Given the description of an element on the screen output the (x, y) to click on. 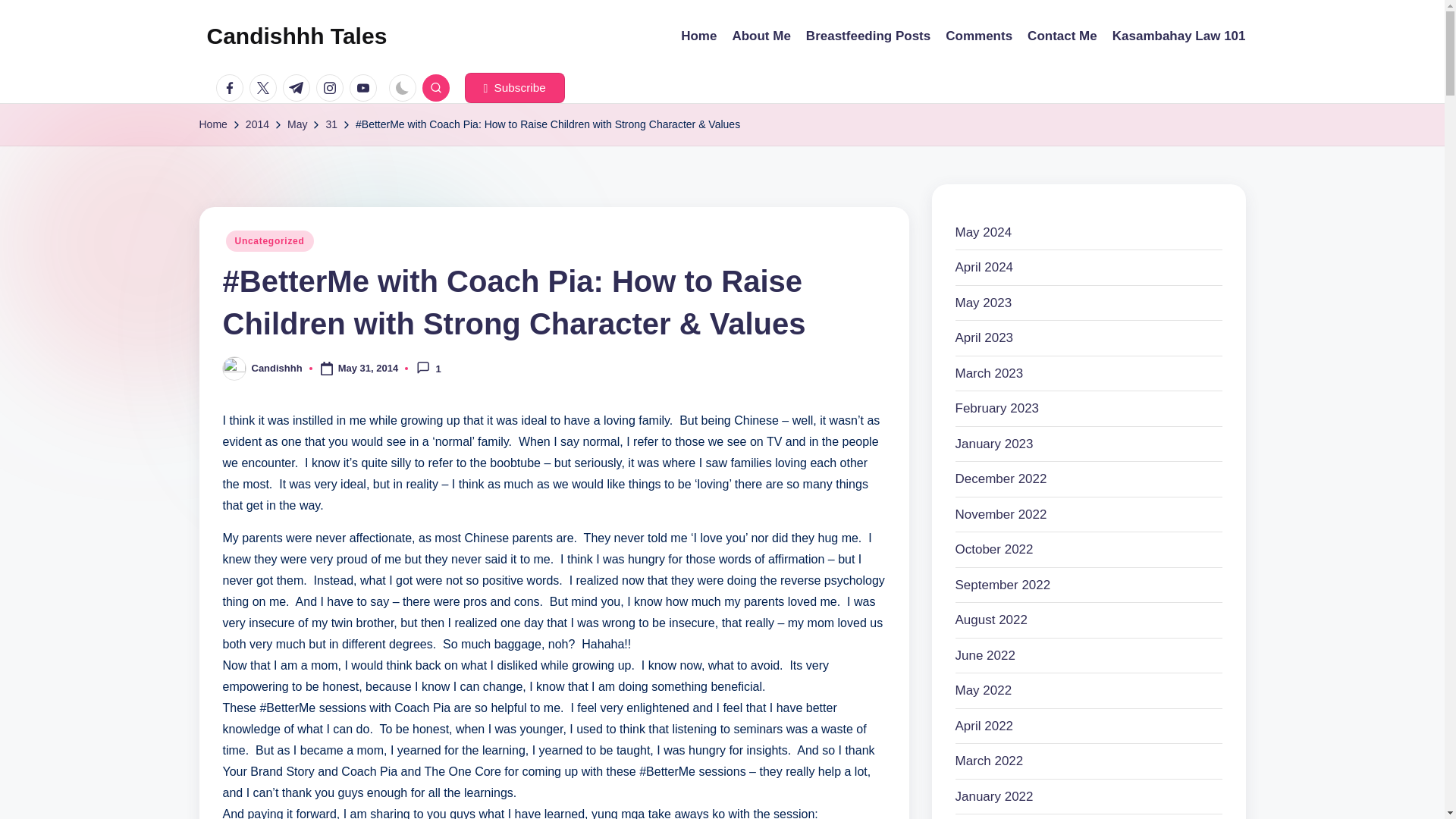
About Me (761, 36)
Comments (977, 36)
Candishhh Tales (296, 36)
twitter.com (265, 87)
t.me (298, 87)
youtube.com (365, 87)
Breastfeeding Posts (868, 36)
facebook.com (231, 87)
Uncategorized (269, 240)
Subscribe (514, 87)
